Given the description of an element on the screen output the (x, y) to click on. 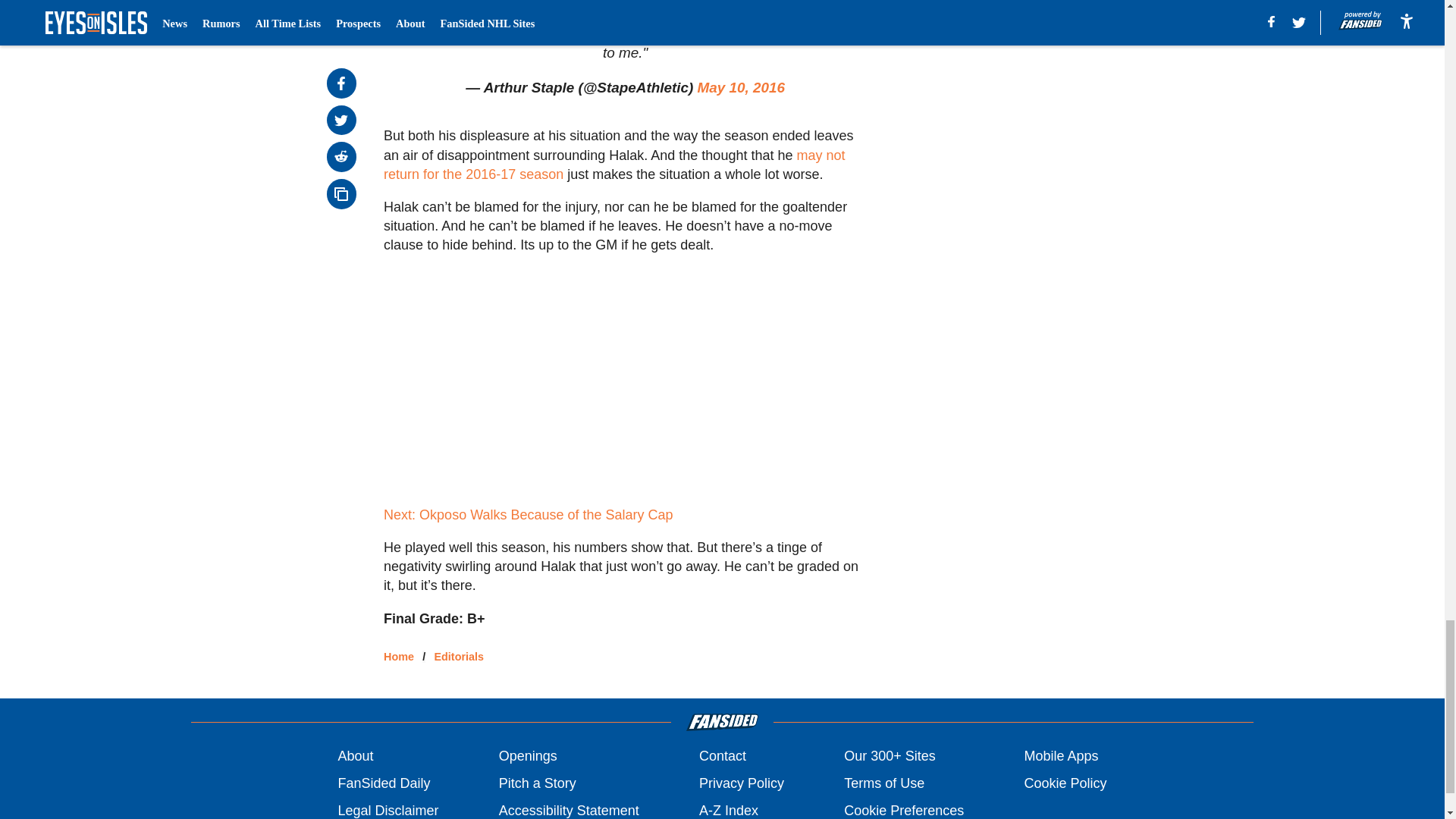
may not return for the 2016-17 season (614, 164)
Home (398, 656)
May 10, 2016 (741, 87)
Editorials (458, 656)
Next: Okposo Walks Because of the Salary Cap (528, 514)
